Given the description of an element on the screen output the (x, y) to click on. 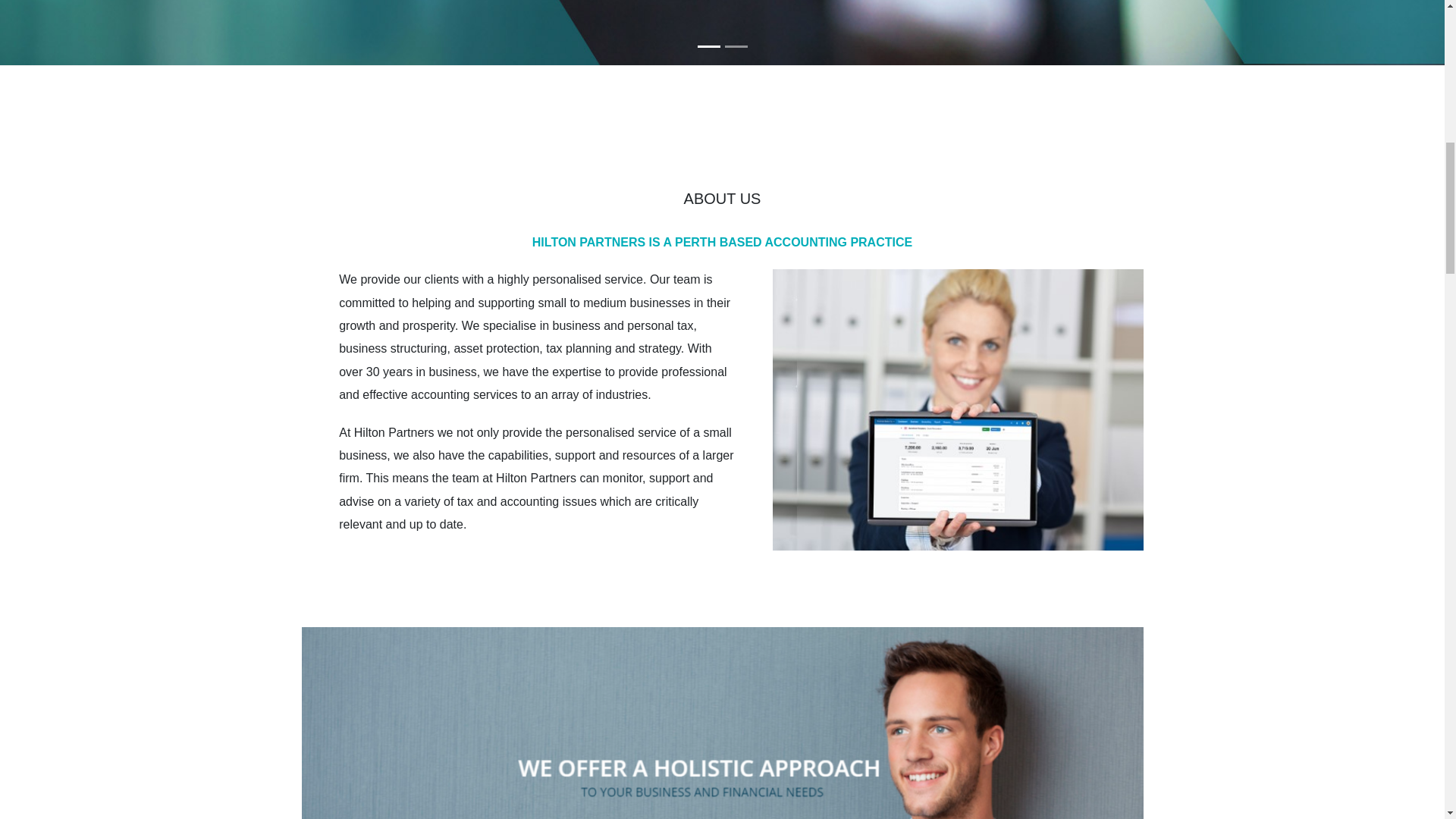
Previous (108, 32)
